Given the description of an element on the screen output the (x, y) to click on. 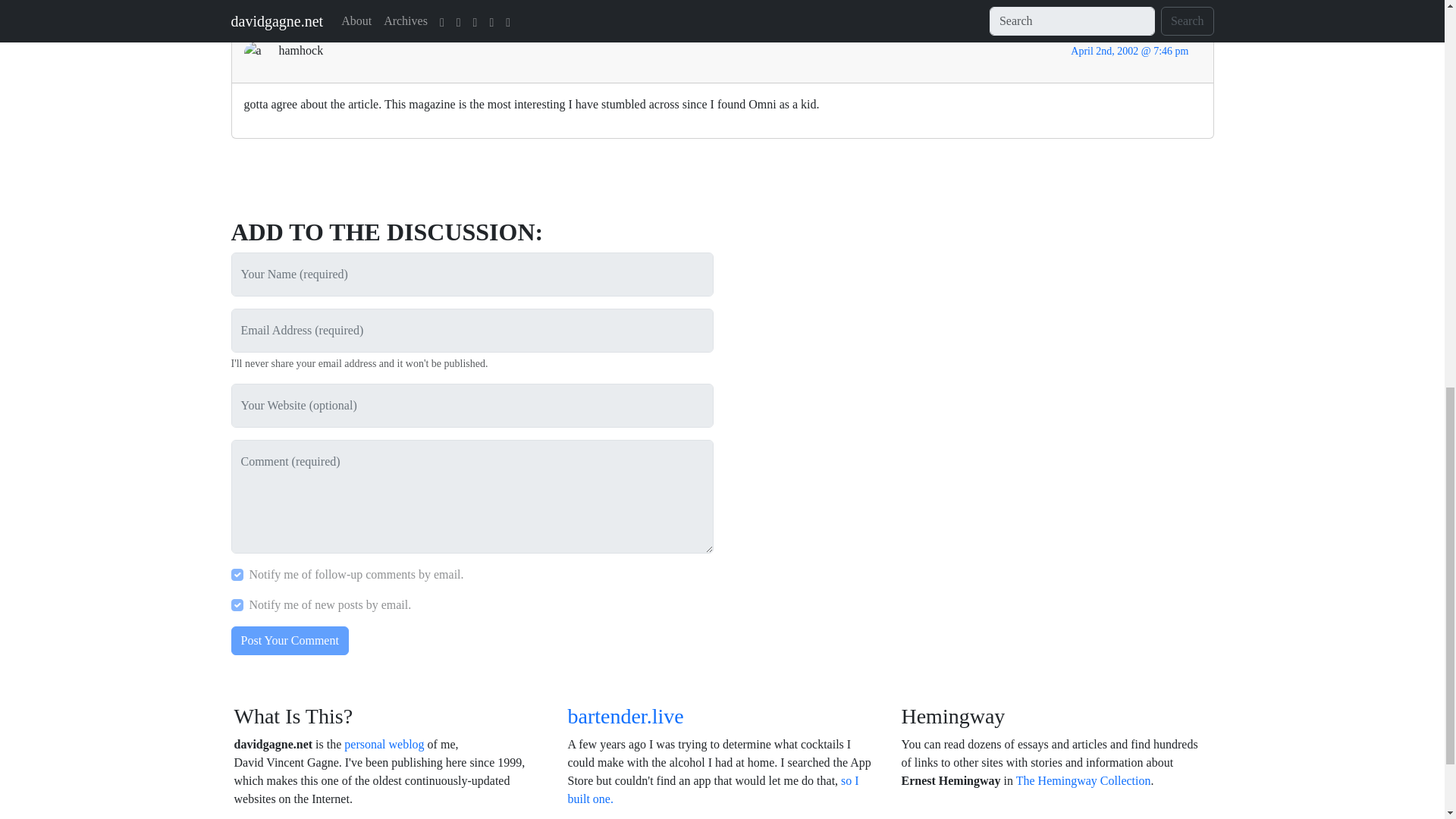
Post Your Comment (288, 640)
subscribe (236, 604)
subscribe (236, 574)
so I built one. (713, 789)
The Hemingway Collection (1083, 780)
bartender.live (624, 716)
comment link (1129, 50)
All About Me (383, 744)
personal weblog (383, 744)
